Given the description of an element on the screen output the (x, y) to click on. 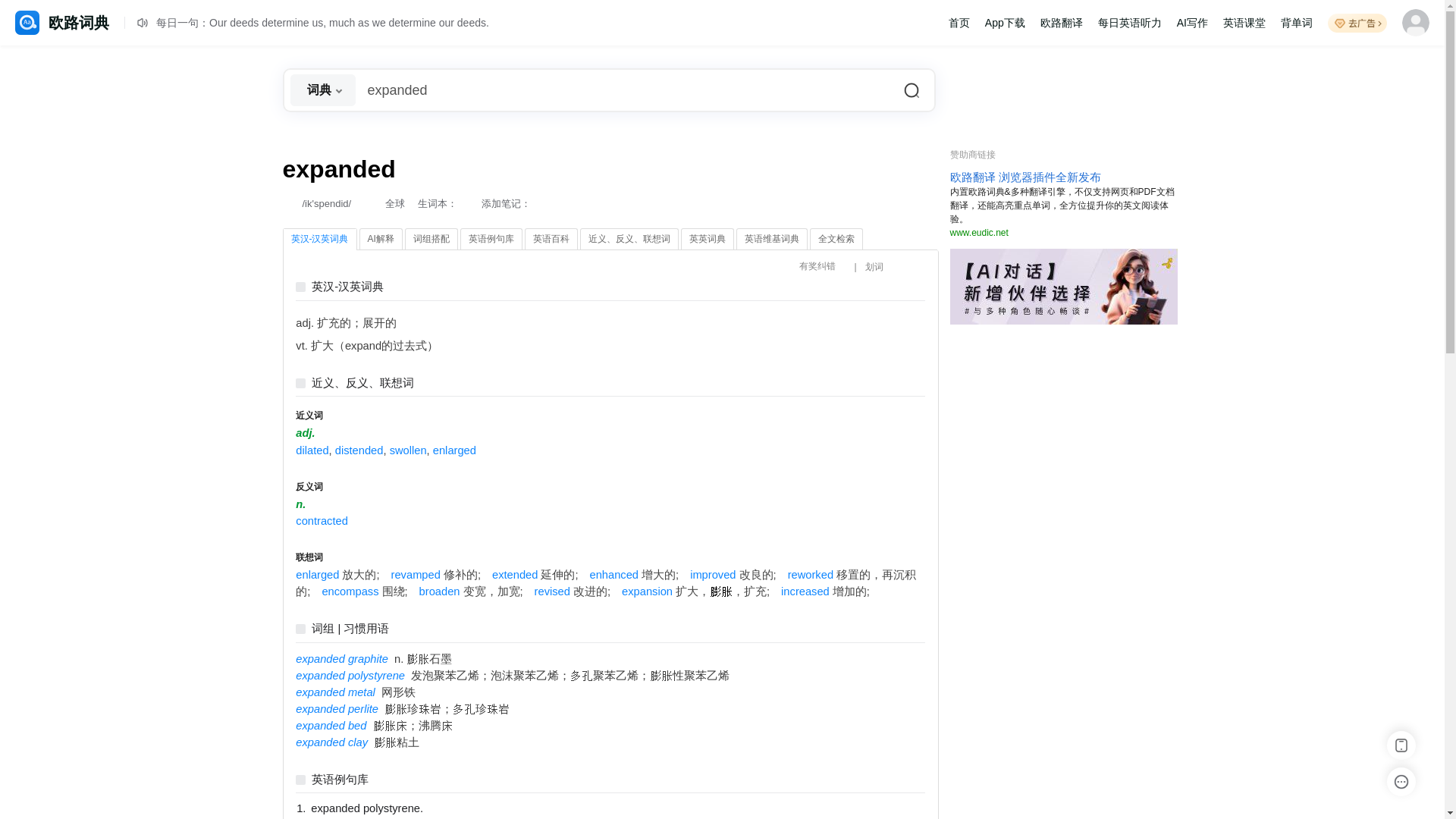
dilated (312, 450)
expanded (609, 89)
expanded (609, 89)
